Given the description of an element on the screen output the (x, y) to click on. 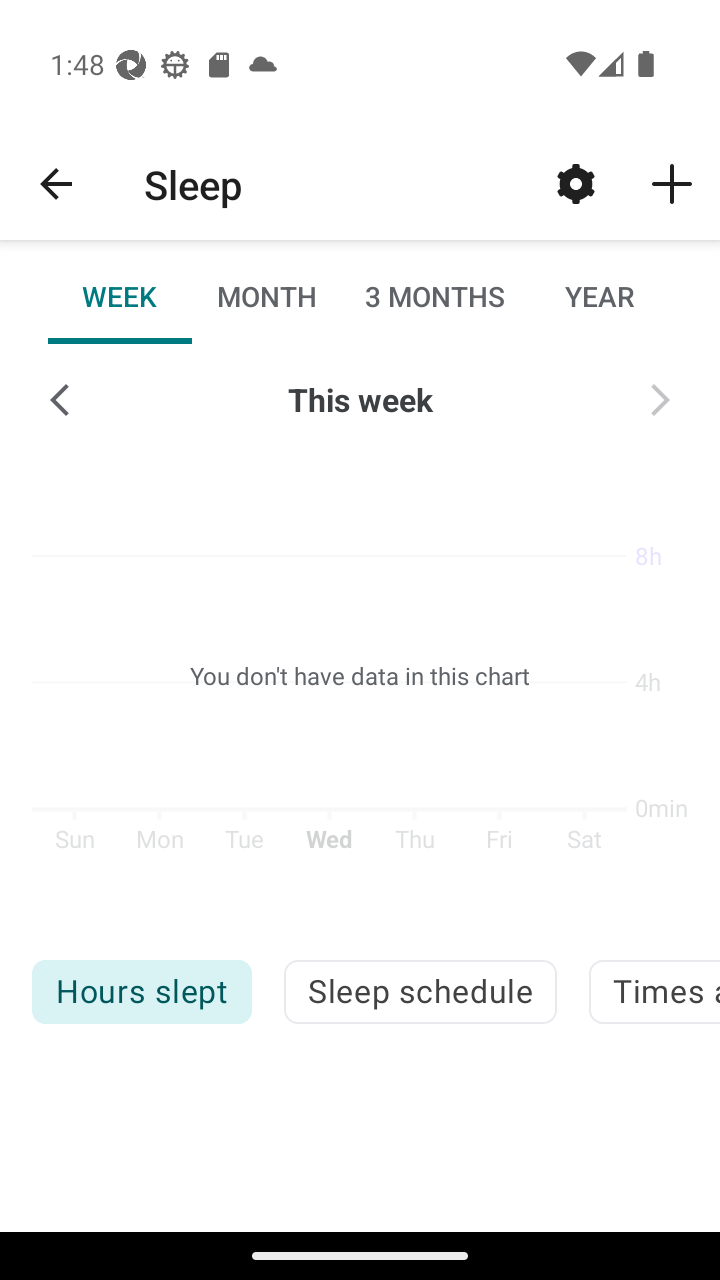
Navigate up (56, 184)
Adjust your goal (575, 183)
Tap to track sleep or
 log a past record (672, 183)
MONTH (265, 296)
3 MONTHS (433, 296)
YEAR (599, 296)
Previous (60, 399)
Next (659, 399)
Hours slept (141, 991)
Sleep schedule (420, 991)
Times awakened (654, 991)
